Given the description of an element on the screen output the (x, y) to click on. 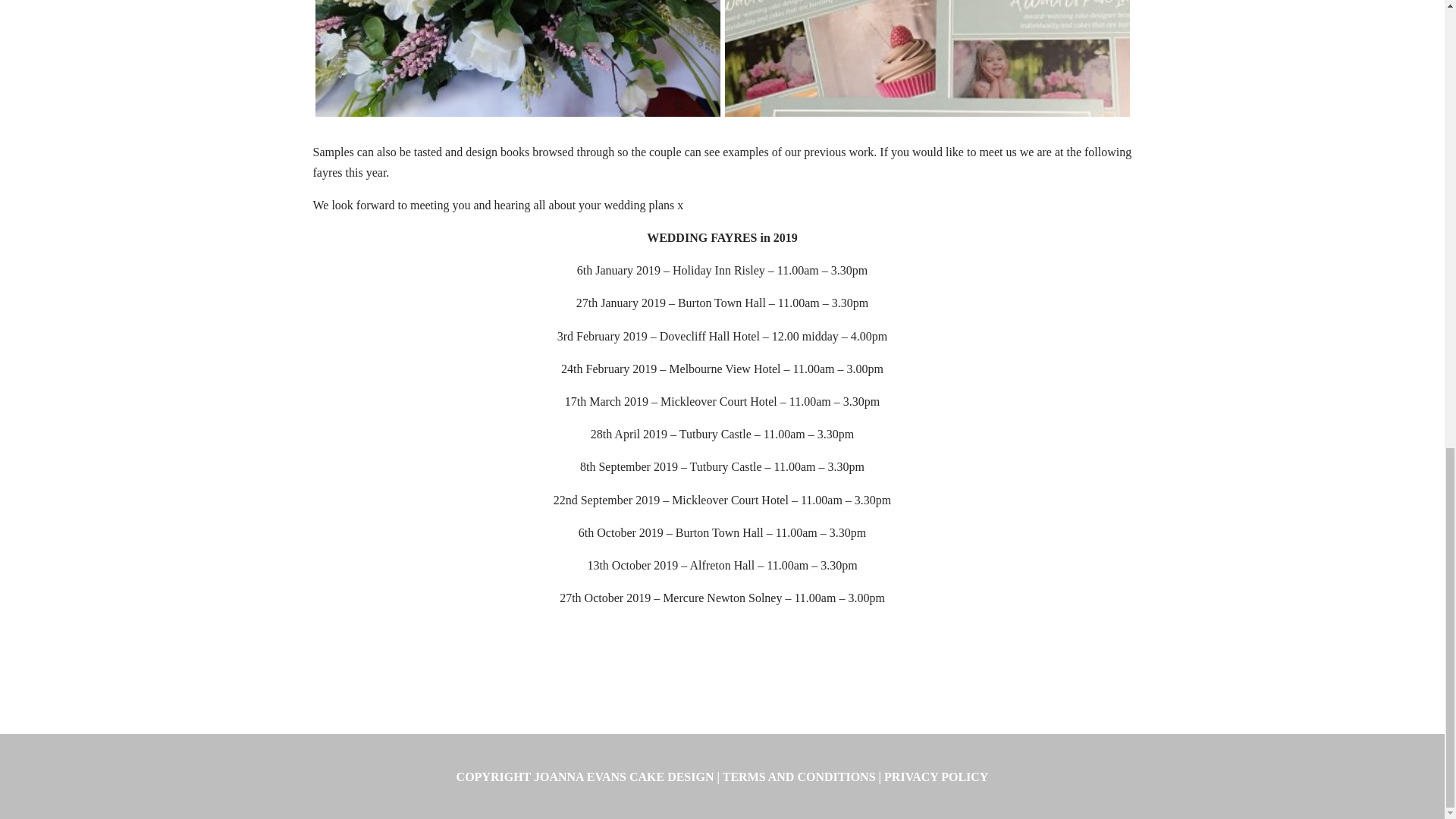
wedding fayre information (927, 115)
PRIVACY POLICY (935, 775)
wedding fayre Flowers (517, 115)
TERMS AND CONDITIONS (799, 775)
